Given the description of an element on the screen output the (x, y) to click on. 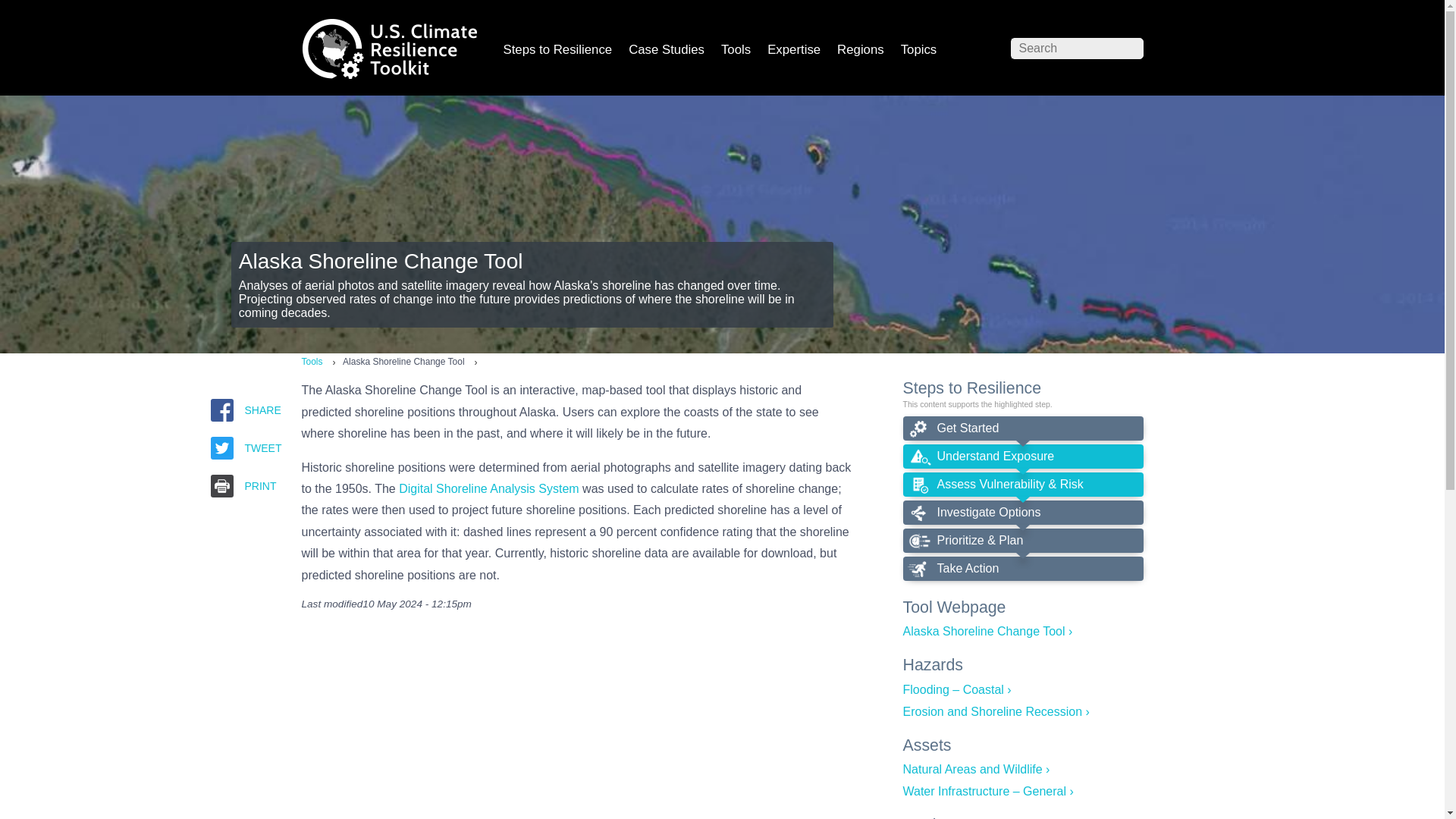
Understand Exposure (1022, 456)
Expertise (793, 51)
Tools (735, 51)
Topics (918, 51)
Investigate Options (1022, 512)
Natural Areas and Wildlife (975, 768)
Share this page on Facebook (221, 409)
Topics (918, 51)
